Given the description of an element on the screen output the (x, y) to click on. 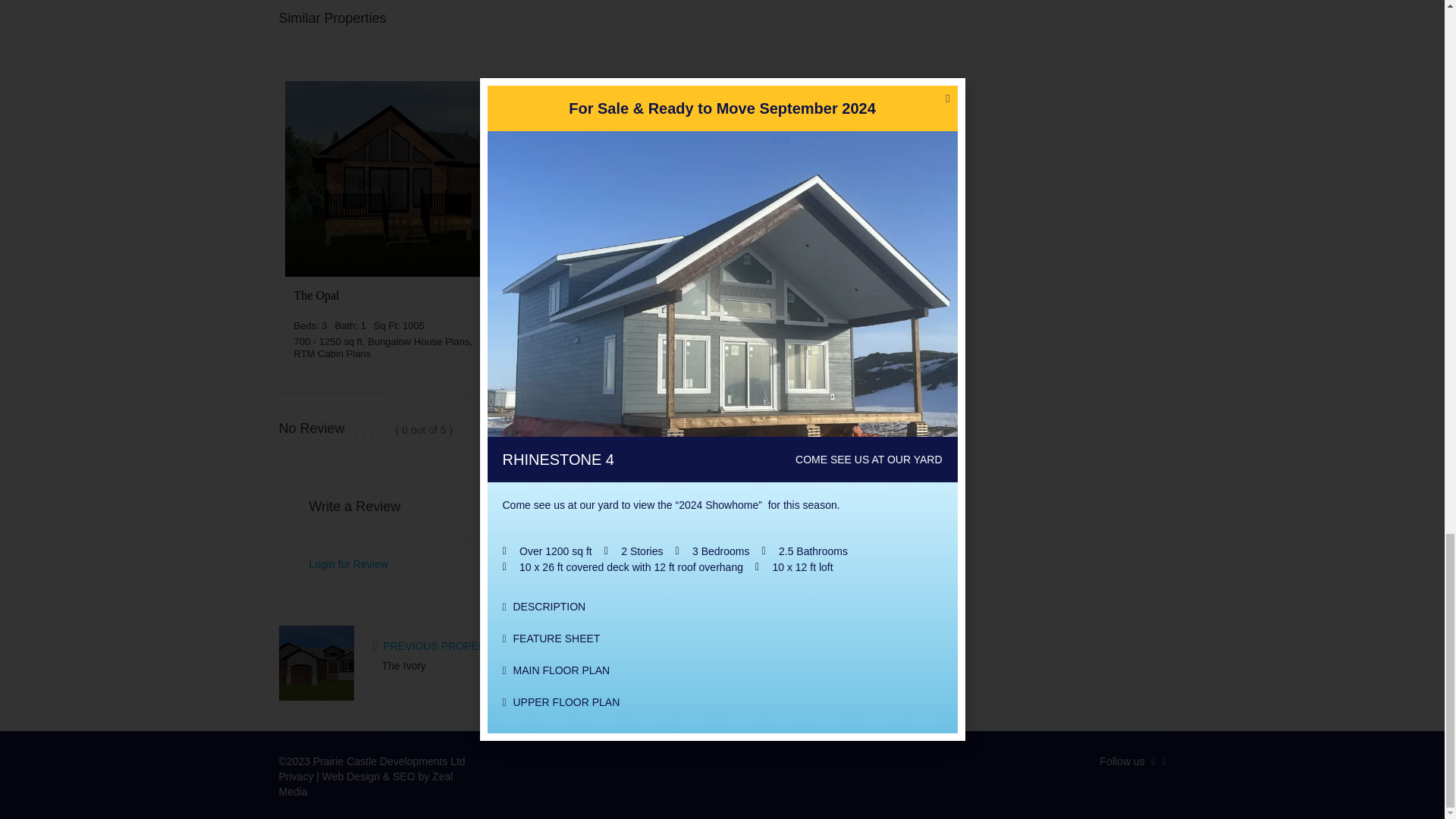
SEO (403, 776)
